Given the description of an element on the screen output the (x, y) to click on. 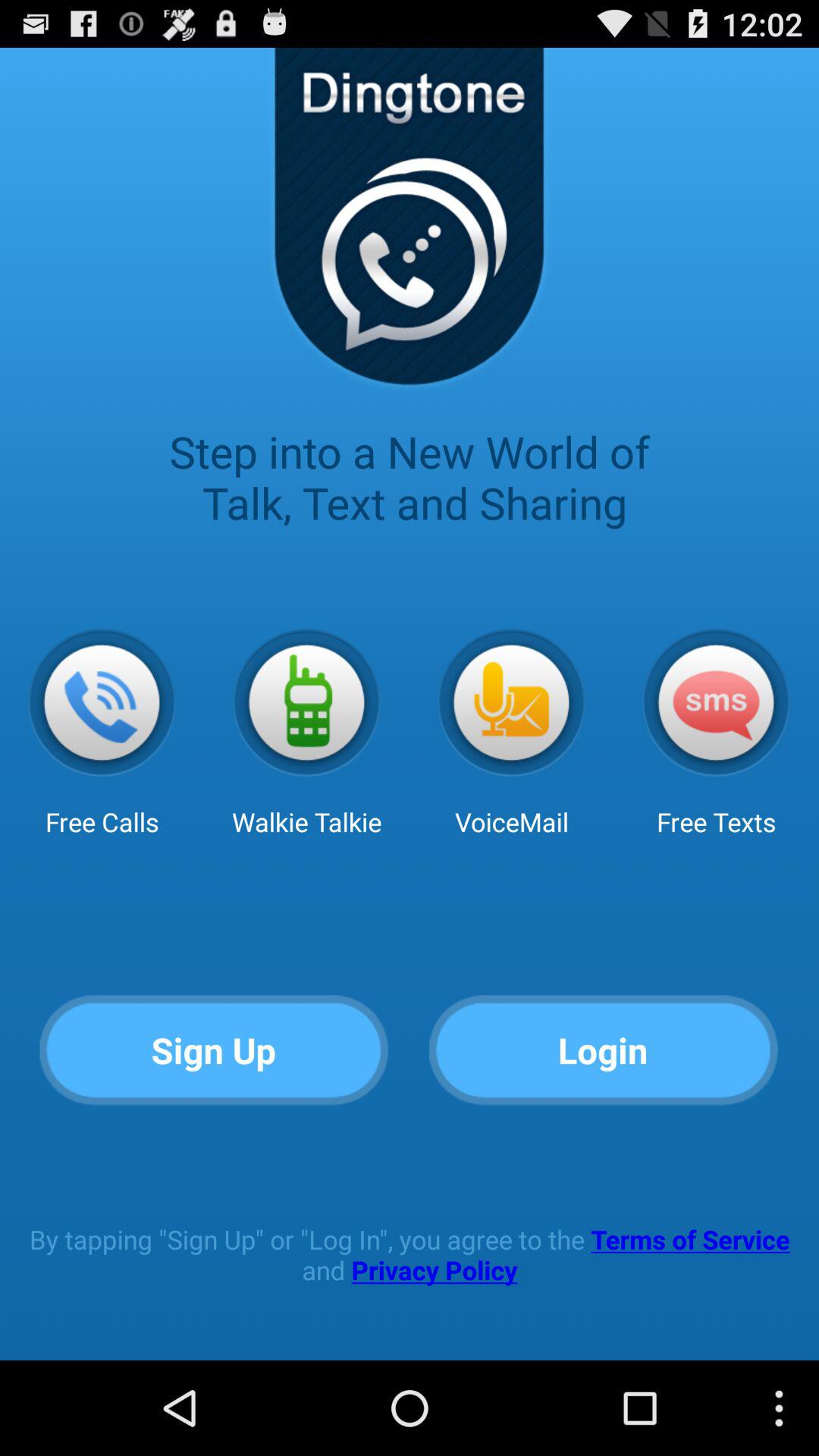
tap by tapping sign item (409, 1254)
